Given the description of an element on the screen output the (x, y) to click on. 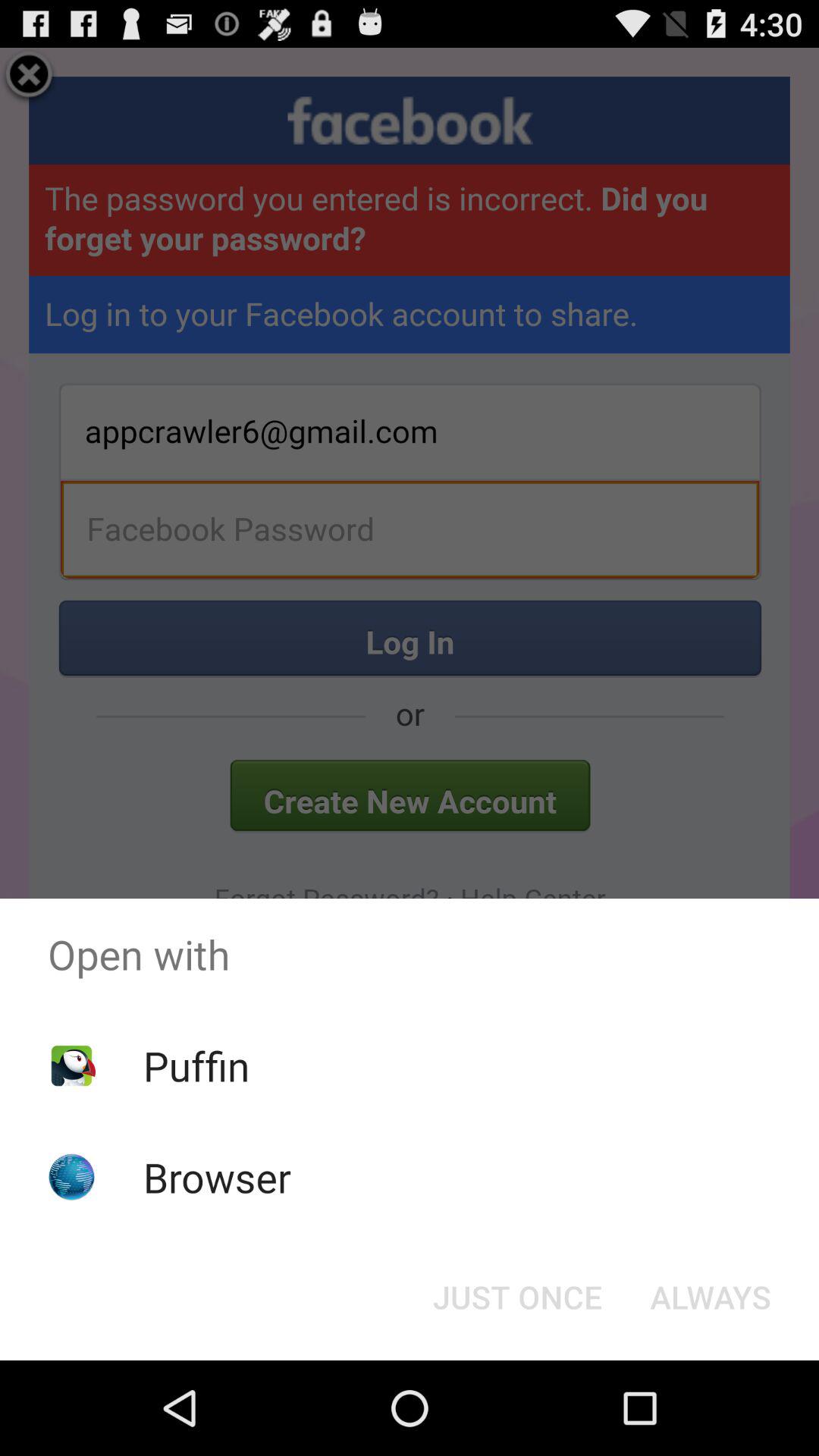
select button at the bottom right corner (710, 1296)
